Given the description of an element on the screen output the (x, y) to click on. 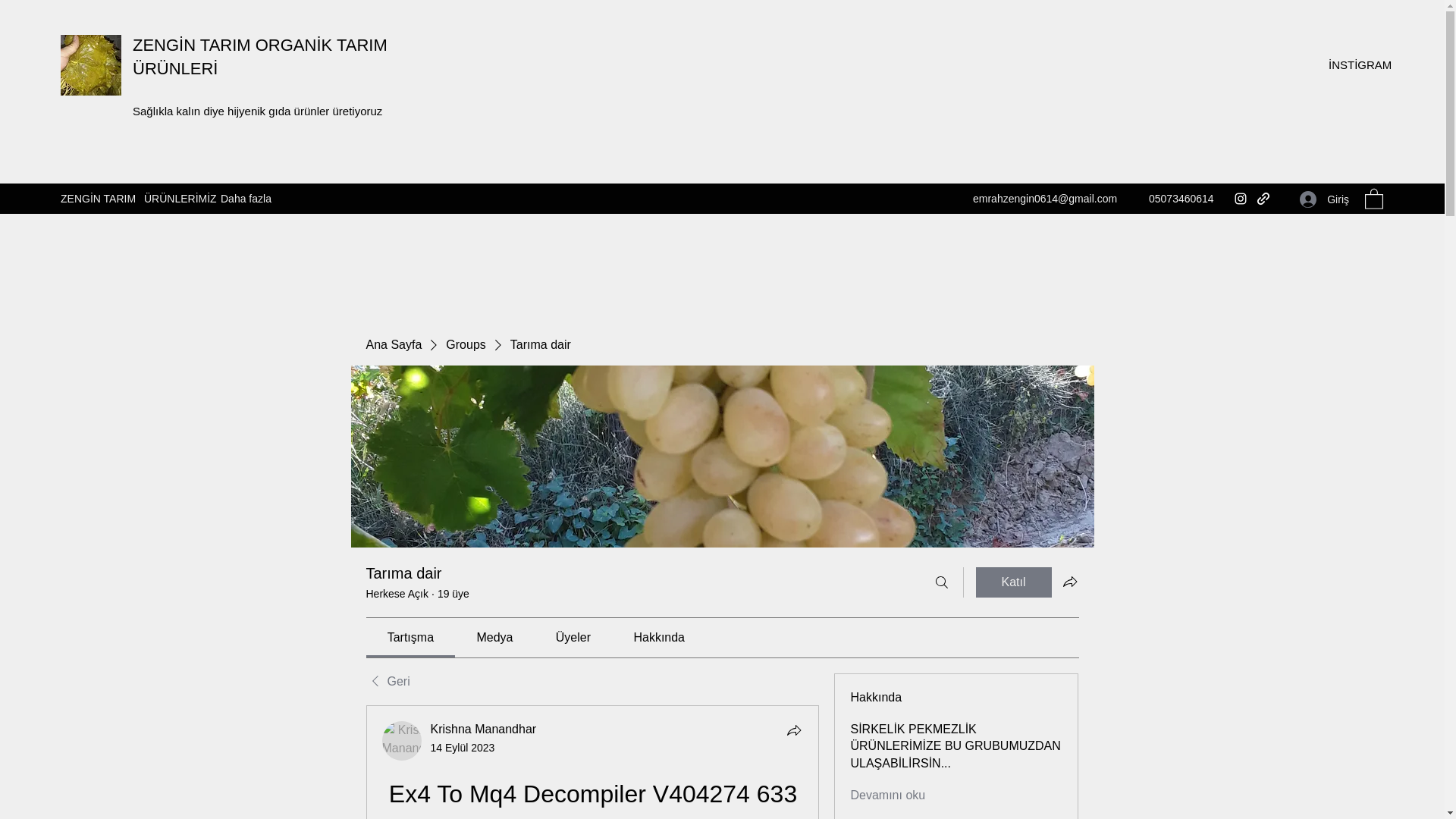
Groups (464, 344)
Geri (387, 681)
Ana Sayfa (393, 344)
Krishna Manandhar (483, 728)
Krishna Manandhar (401, 740)
